Given the description of an element on the screen output the (x, y) to click on. 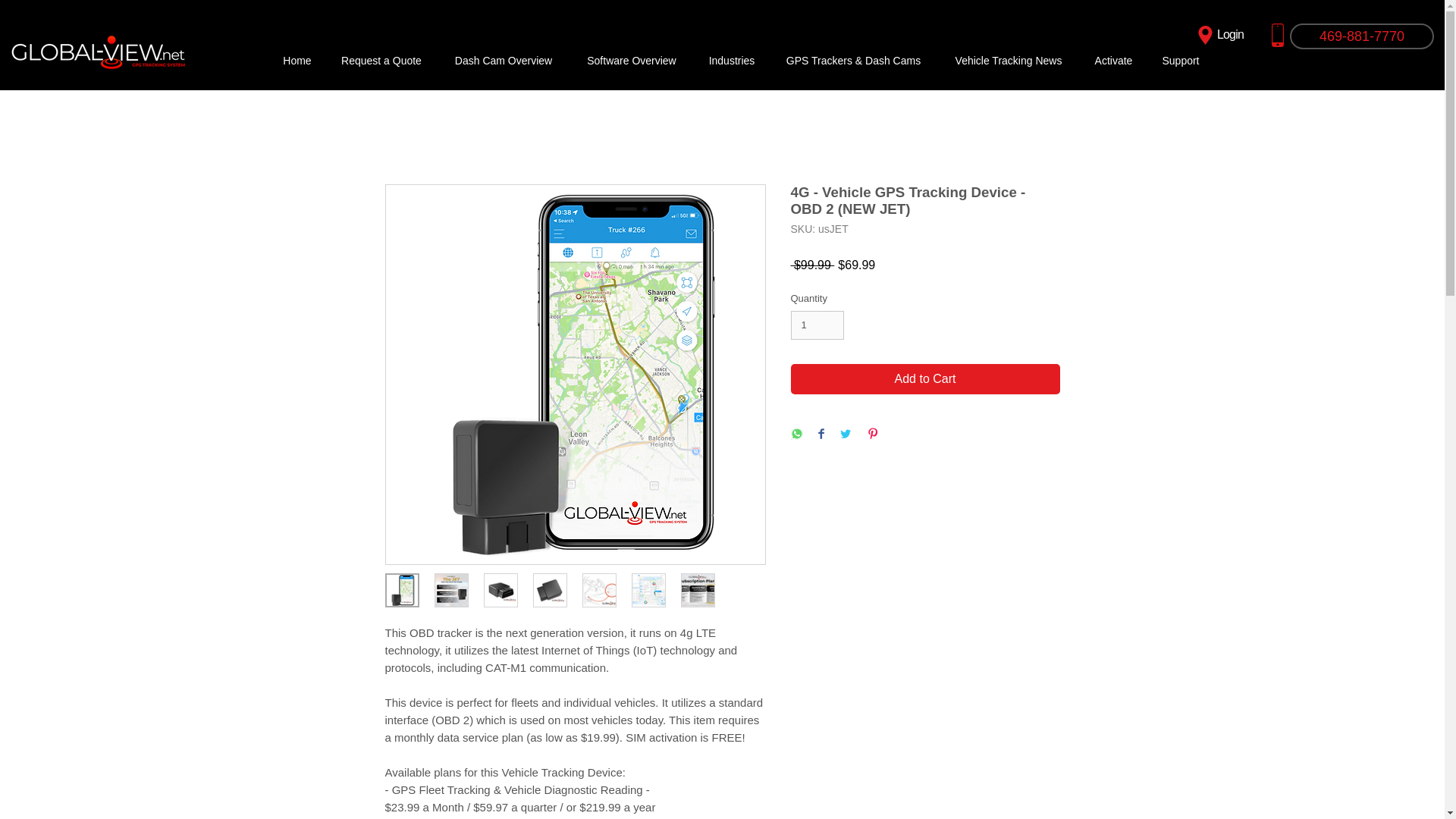
469-881-7770 (1362, 36)
Home (295, 60)
Fleet Tracking at its Finest! (98, 50)
Industries (730, 60)
Login (1218, 35)
Vehicle Tracking News (1008, 60)
1 (817, 325)
Software Overview (631, 60)
Activate (1113, 60)
Dash Cam Overview (502, 60)
Request a Quote (380, 60)
